Given the description of an element on the screen output the (x, y) to click on. 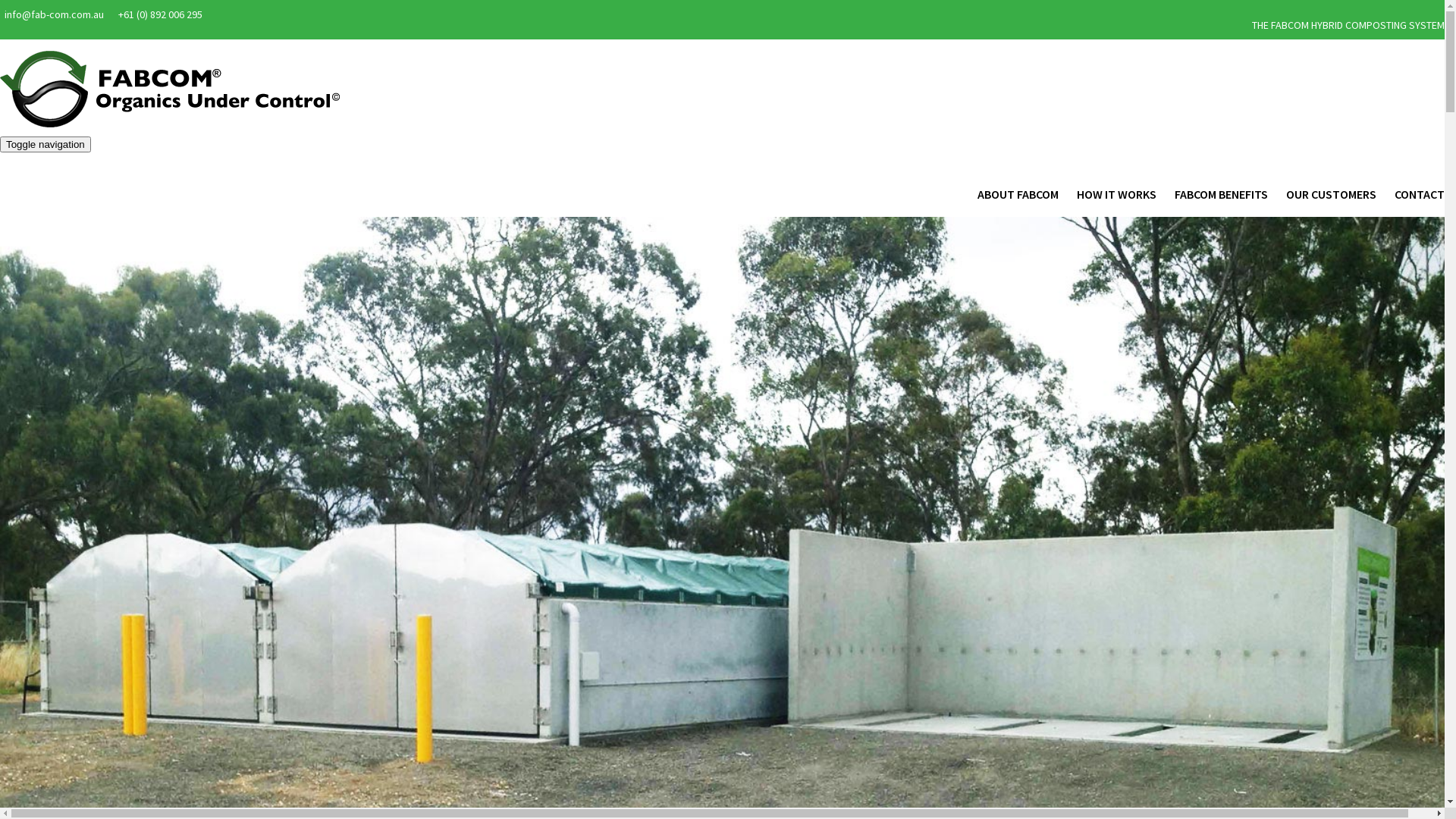
OUR CUSTOMERS Element type: text (1331, 193)
ABOUT FABCOM Element type: text (1017, 193)
info@fab-com.com.au Element type: text (53, 14)
+61 (0) 892 006 295 Element type: text (160, 14)
FABCOM BENEFITS Element type: text (1221, 193)
Toggle navigation Element type: text (45, 144)
HOW IT WORKS Element type: text (1116, 193)
CONTACT Element type: text (1414, 193)
